Given the description of an element on the screen output the (x, y) to click on. 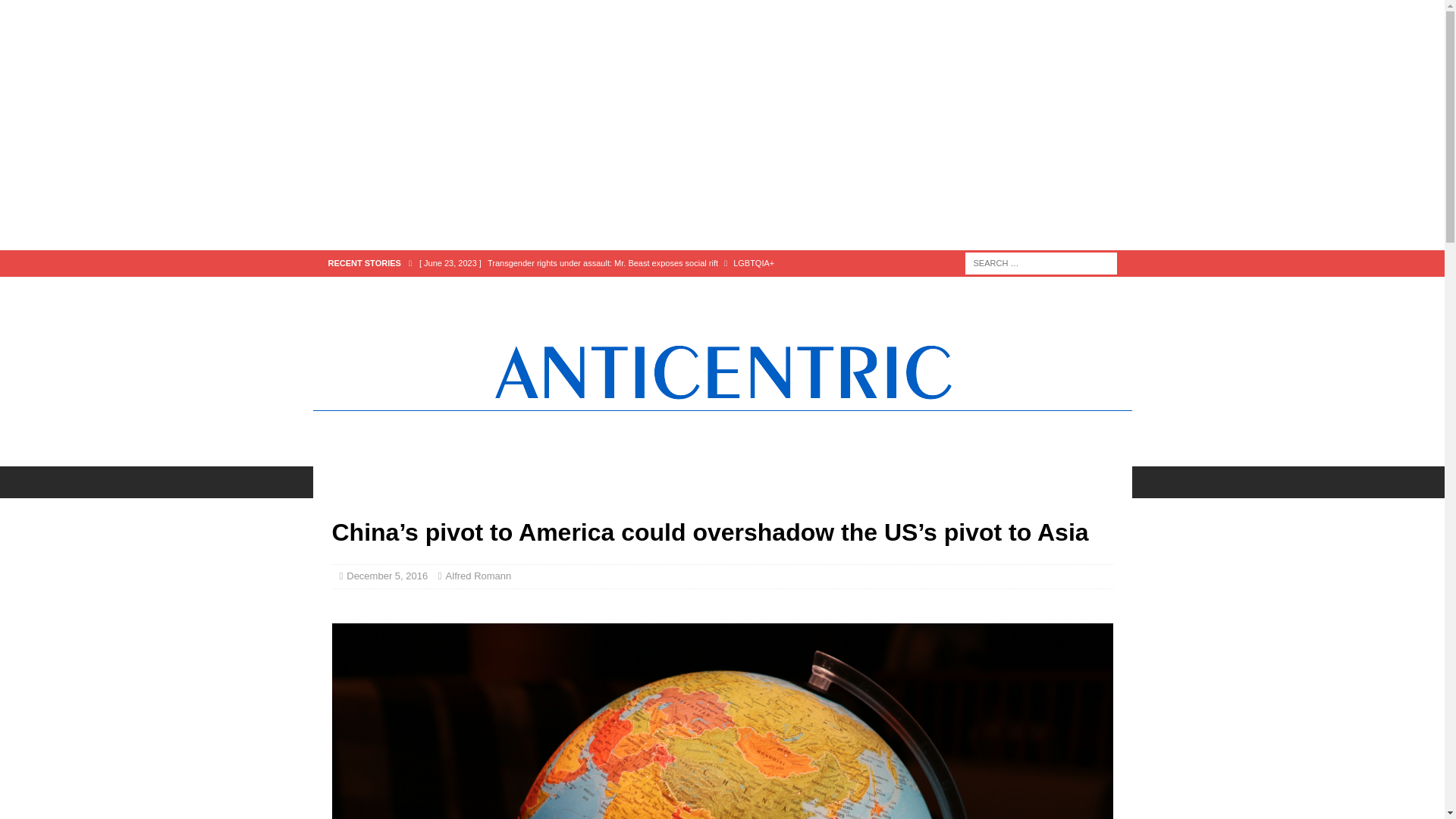
SPOTLIGHT: SOCIAL UNREST (836, 481)
Anticentric (722, 458)
ABOUT US (971, 481)
SPOTLIGHT: ANTIVAXXERS (659, 481)
Alfred Romann (478, 575)
December 5, 2016 (387, 575)
Search (56, 11)
